Given the description of an element on the screen output the (x, y) to click on. 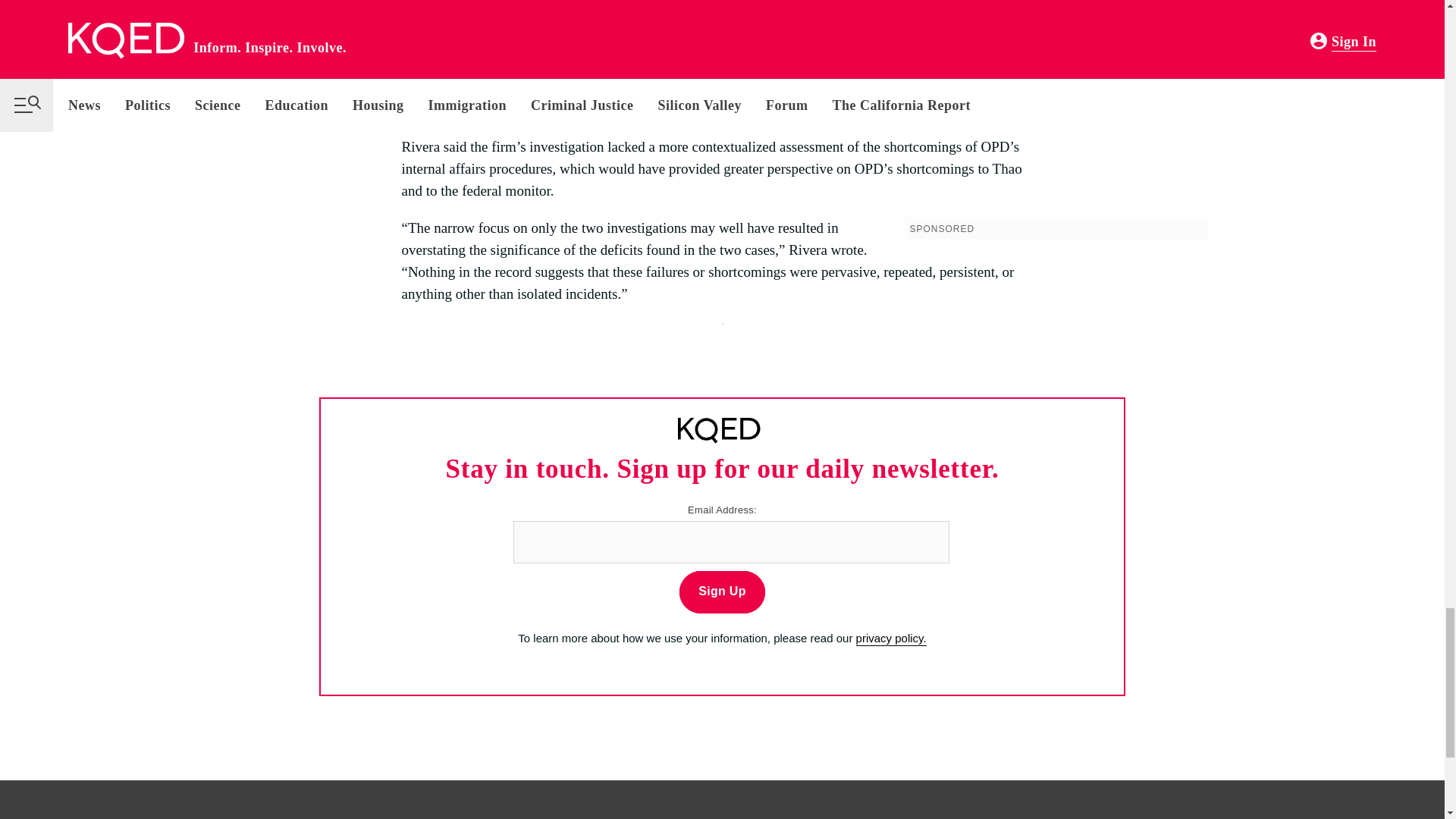
KQED (719, 430)
